Given the description of an element on the screen output the (x, y) to click on. 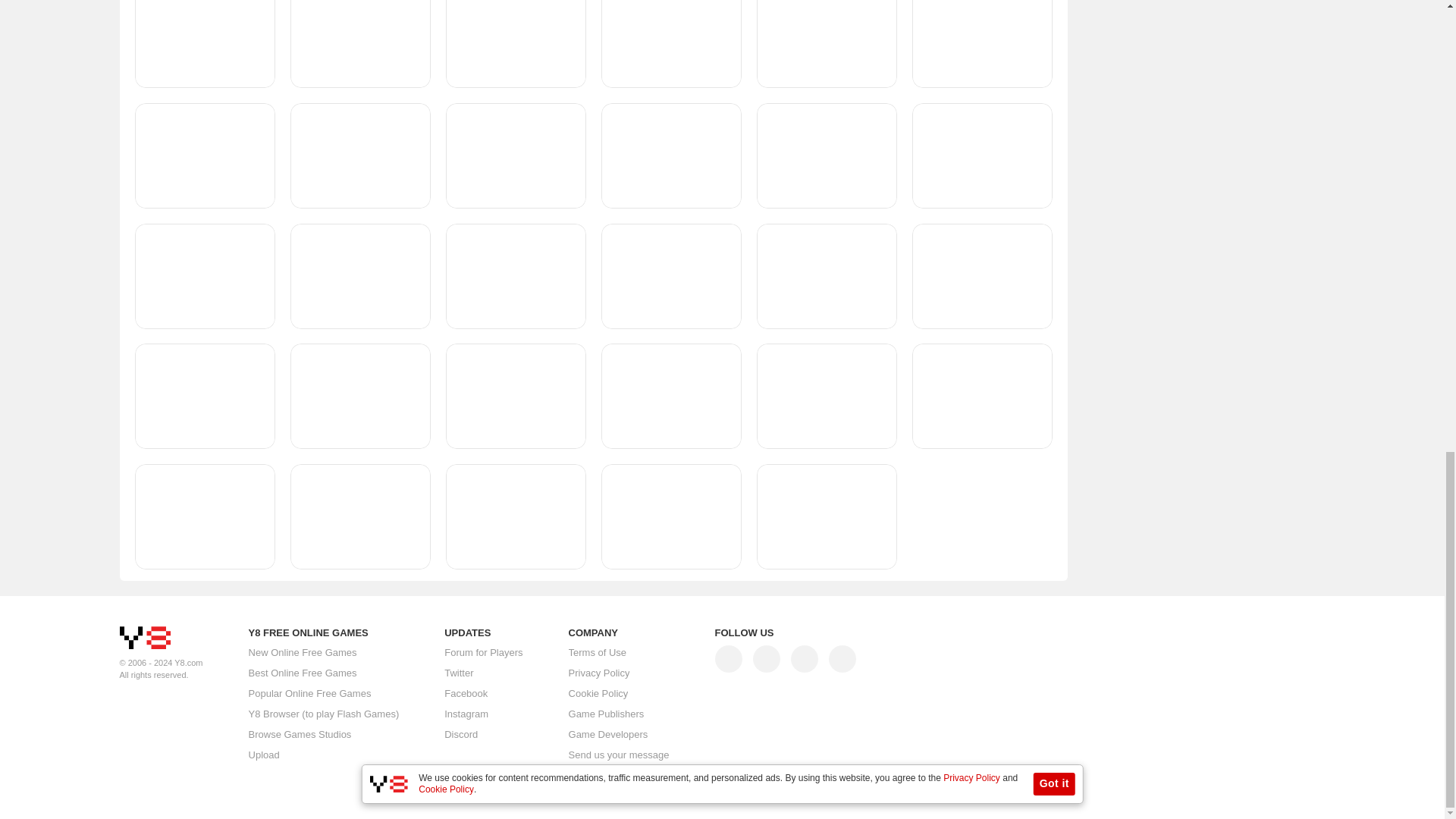
Cookie Policy (598, 693)
Privacy Policy (599, 673)
Terms of Use (598, 653)
Discover Top-Rated Games - Best Games Selection 2024 (302, 672)
Be the First One to Play New Online Free Games (302, 652)
